Given the description of an element on the screen output the (x, y) to click on. 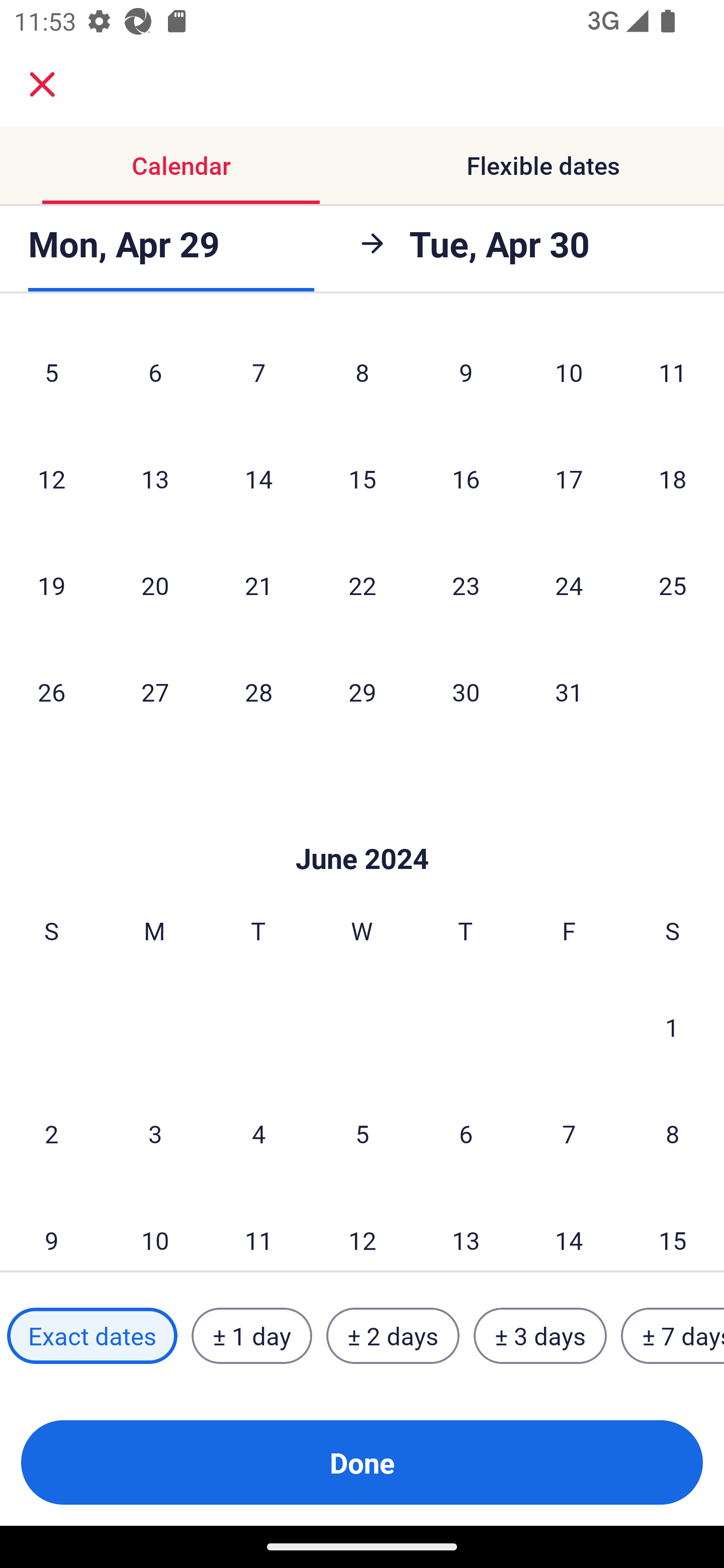
close. (42, 84)
Flexible dates (542, 164)
5 Sunday, May 5, 2024 (51, 372)
6 Monday, May 6, 2024 (155, 372)
7 Tuesday, May 7, 2024 (258, 372)
8 Wednesday, May 8, 2024 (362, 372)
9 Thursday, May 9, 2024 (465, 372)
10 Friday, May 10, 2024 (569, 372)
11 Saturday, May 11, 2024 (672, 372)
12 Sunday, May 12, 2024 (51, 477)
13 Monday, May 13, 2024 (155, 477)
14 Tuesday, May 14, 2024 (258, 477)
15 Wednesday, May 15, 2024 (362, 477)
16 Thursday, May 16, 2024 (465, 477)
17 Friday, May 17, 2024 (569, 477)
18 Saturday, May 18, 2024 (672, 477)
19 Sunday, May 19, 2024 (51, 584)
20 Monday, May 20, 2024 (155, 584)
21 Tuesday, May 21, 2024 (258, 584)
22 Wednesday, May 22, 2024 (362, 584)
23 Thursday, May 23, 2024 (465, 584)
24 Friday, May 24, 2024 (569, 584)
25 Saturday, May 25, 2024 (672, 584)
26 Sunday, May 26, 2024 (51, 691)
27 Monday, May 27, 2024 (155, 691)
28 Tuesday, May 28, 2024 (258, 691)
29 Wednesday, May 29, 2024 (362, 691)
30 Thursday, May 30, 2024 (465, 691)
31 Friday, May 31, 2024 (569, 691)
Skip to Done (362, 828)
1 Saturday, June 1, 2024 (672, 1026)
2 Sunday, June 2, 2024 (51, 1133)
3 Monday, June 3, 2024 (155, 1133)
4 Tuesday, June 4, 2024 (258, 1133)
5 Wednesday, June 5, 2024 (362, 1133)
6 Thursday, June 6, 2024 (465, 1133)
7 Friday, June 7, 2024 (569, 1133)
8 Saturday, June 8, 2024 (672, 1133)
9 Sunday, June 9, 2024 (51, 1229)
10 Monday, June 10, 2024 (155, 1229)
11 Tuesday, June 11, 2024 (258, 1229)
12 Wednesday, June 12, 2024 (362, 1229)
13 Thursday, June 13, 2024 (465, 1229)
14 Friday, June 14, 2024 (569, 1229)
15 Saturday, June 15, 2024 (672, 1229)
Exact dates (92, 1335)
± 1 day (251, 1335)
± 2 days (392, 1335)
± 3 days (539, 1335)
± 7 days (672, 1335)
Done (361, 1462)
